Given the description of an element on the screen output the (x, y) to click on. 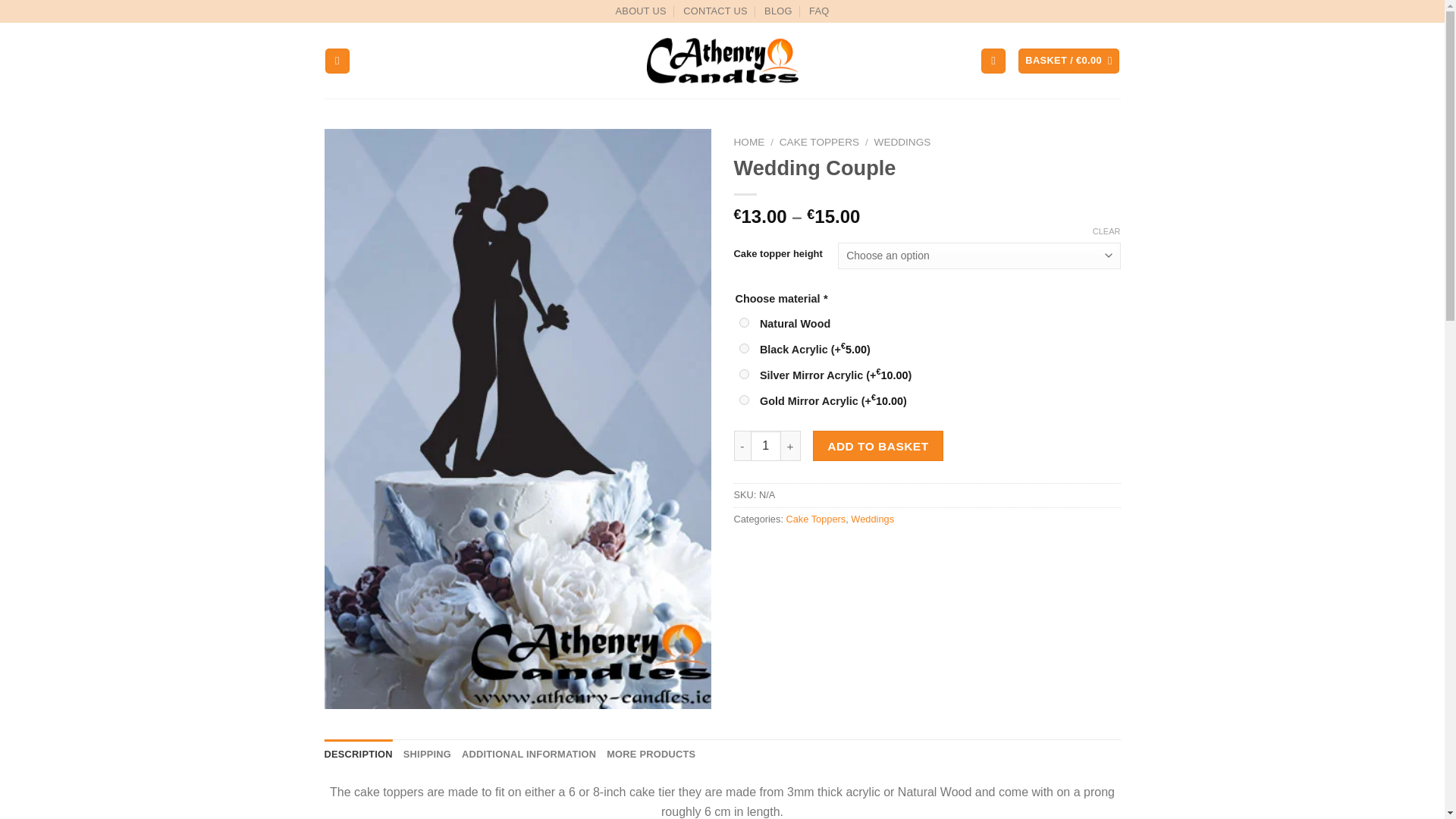
CLEAR (1107, 231)
BLOG (778, 11)
CAKE TOPPERS (818, 142)
1 (765, 445)
WEDDINGS (903, 142)
natural-wood (743, 322)
silver-mirror-acrylic (743, 374)
black-acrylic (743, 347)
HOME (749, 142)
Cake Toppers (815, 518)
CONTACT US (715, 11)
ADD TO BASKET (877, 445)
Weddings (871, 518)
Basket (1068, 60)
